Given the description of an element on the screen output the (x, y) to click on. 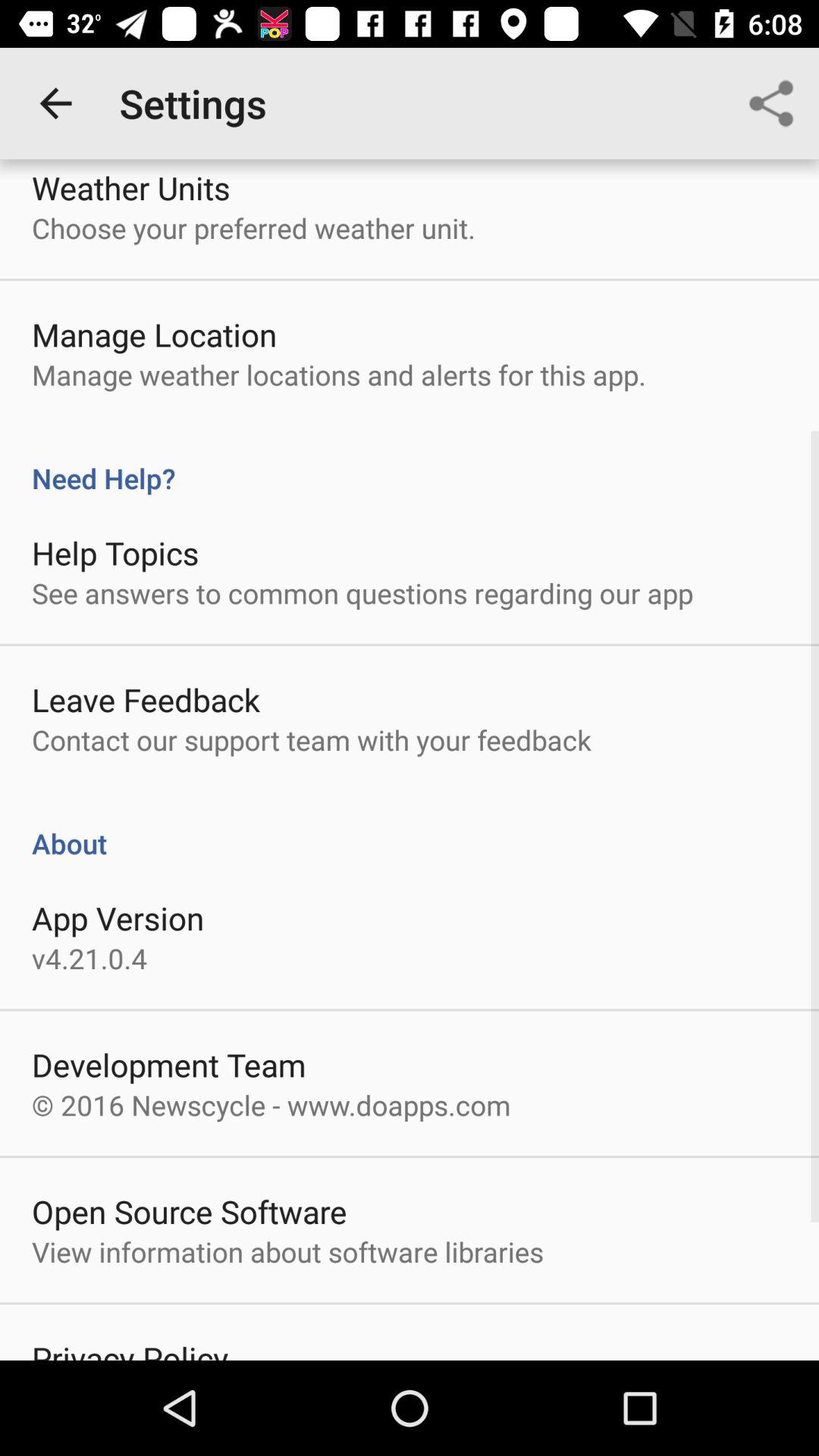
flip to the help topics icon (115, 552)
